Given the description of an element on the screen output the (x, y) to click on. 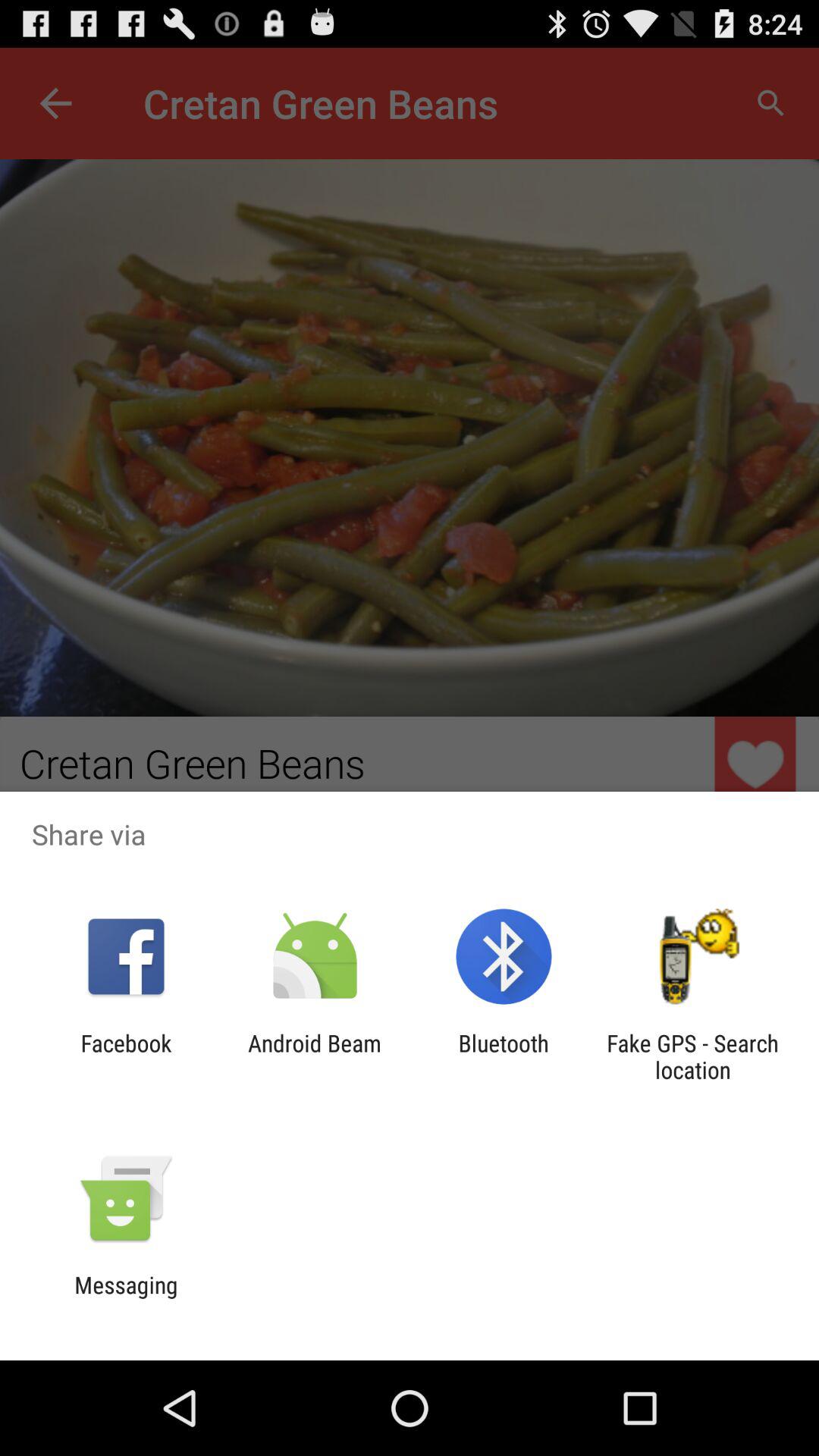
choose item next to the fake gps search app (503, 1056)
